Given the description of an element on the screen output the (x, y) to click on. 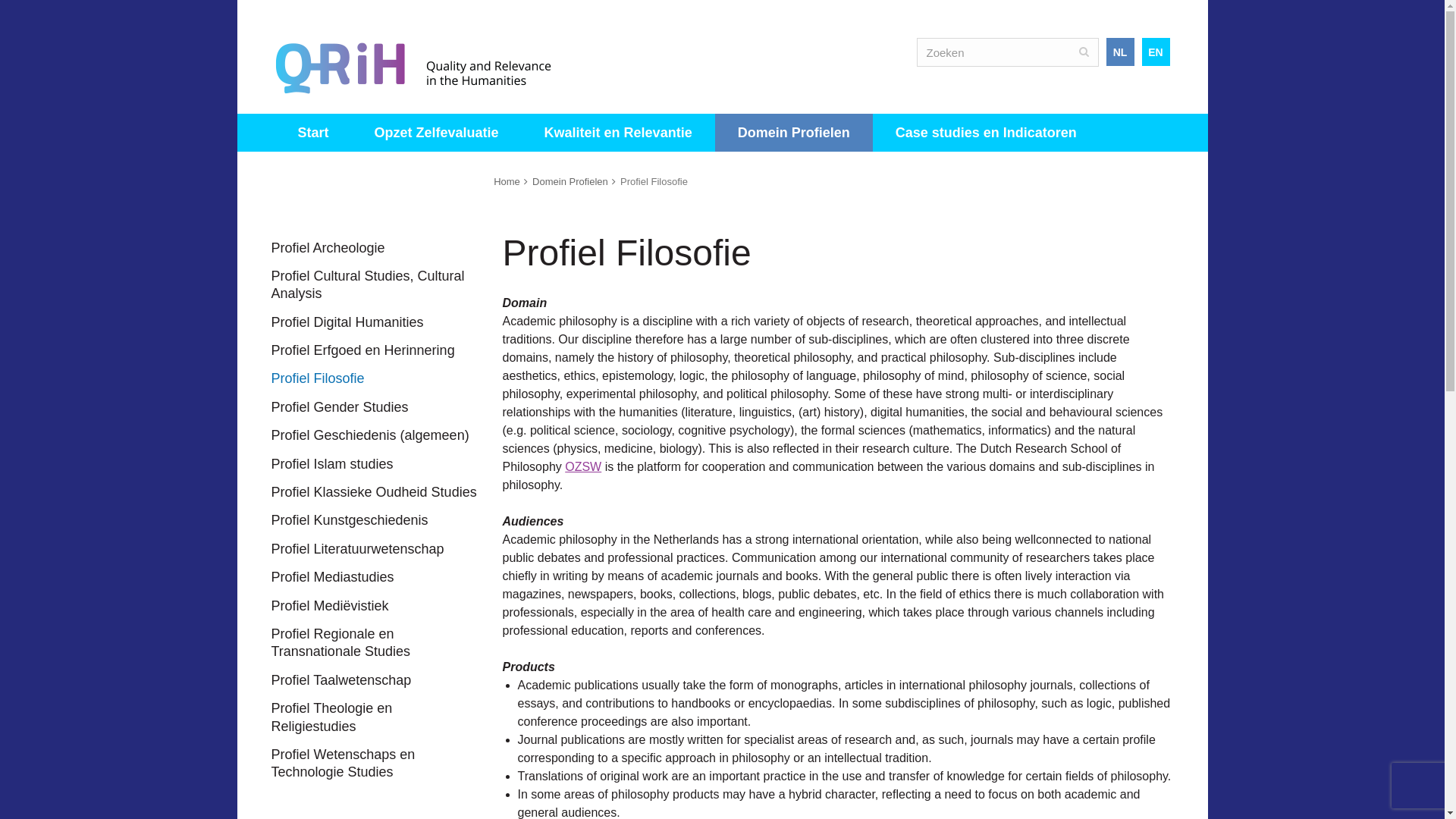
Home - QRiH (426, 66)
EN (1155, 51)
Domein Profielen (793, 132)
NL (1119, 51)
Start (312, 132)
Opzet Zelfevaluatie (436, 132)
Kwaliteit en Relevantie (617, 132)
